Given the description of an element on the screen output the (x, y) to click on. 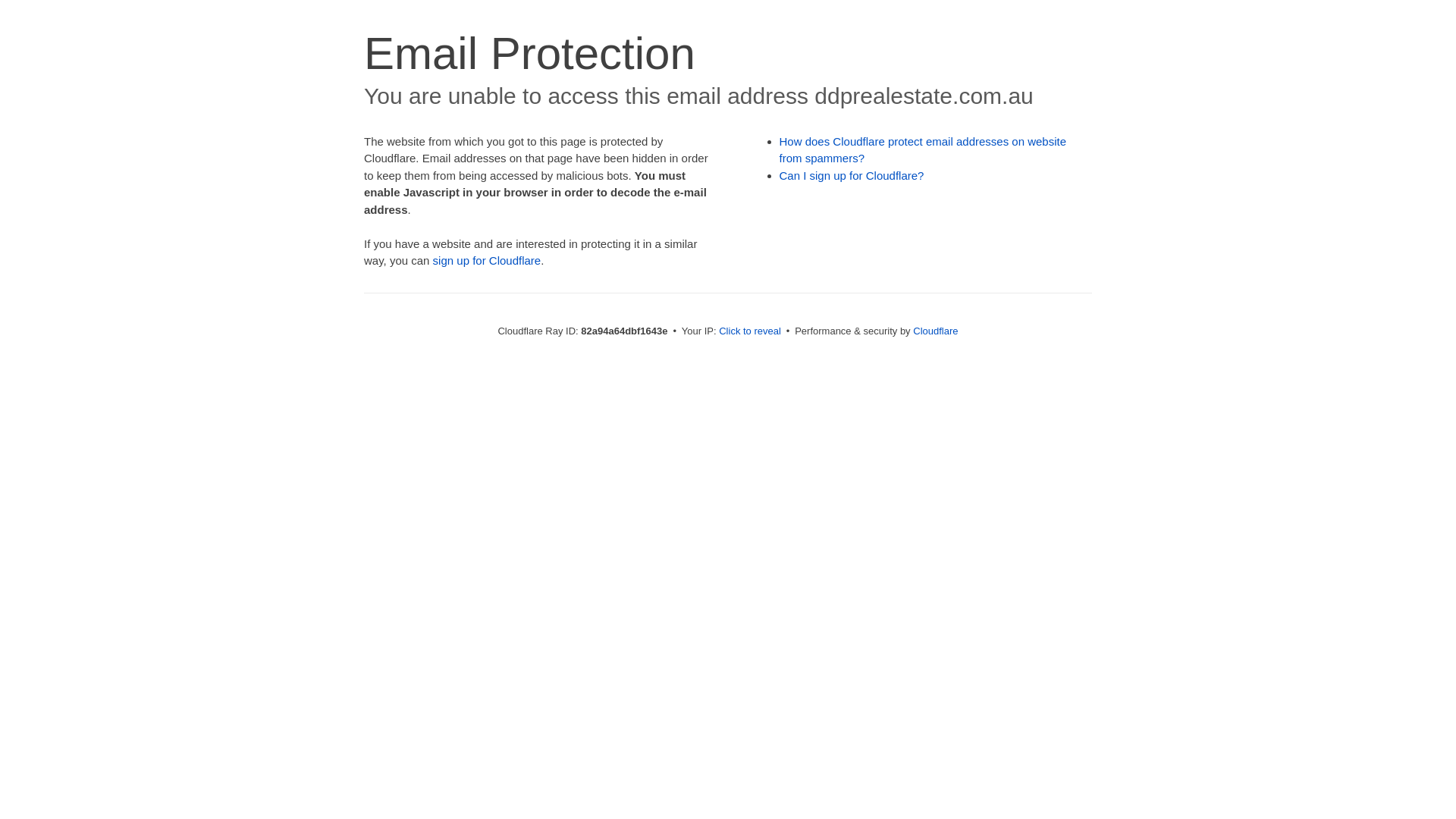
Can I sign up for Cloudflare? Element type: text (851, 175)
Click to reveal Element type: text (749, 330)
Cloudflare Element type: text (935, 330)
sign up for Cloudflare Element type: text (487, 260)
